Given the description of an element on the screen output the (x, y) to click on. 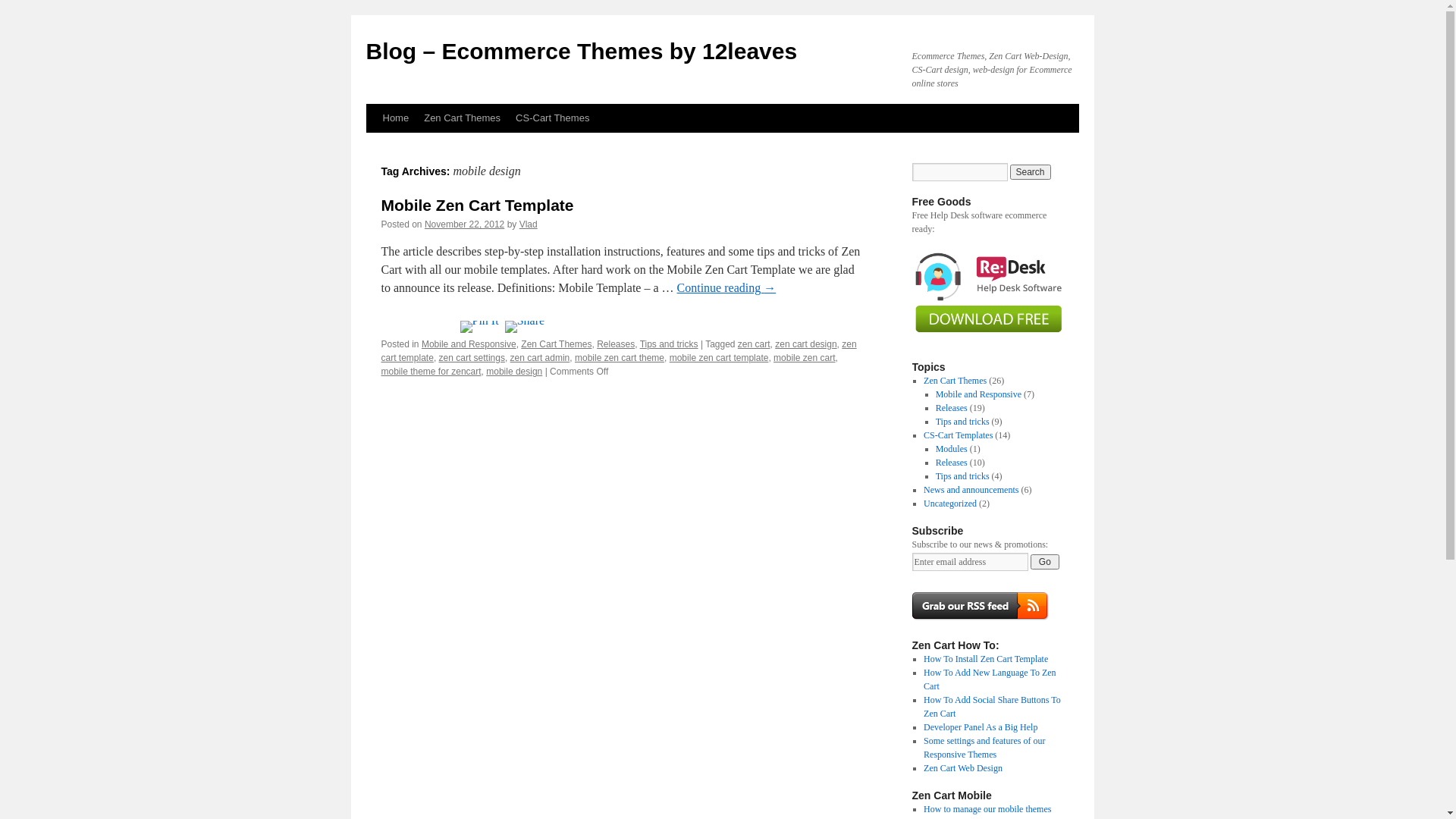
Home Element type: text (395, 117)
News and announcements Element type: text (970, 489)
Mobile and Responsive Element type: text (978, 394)
Releases Element type: text (951, 462)
Tips and tricks Element type: text (962, 421)
Mobile and Responsive Element type: text (468, 343)
zen cart settings Element type: text (472, 357)
mobile theme for zencart Element type: text (430, 371)
Search Element type: text (1030, 171)
How to manage our mobile themes Element type: text (987, 808)
zen cart admin Element type: text (540, 357)
Skip to content Element type: text (372, 146)
zen cart design Element type: text (805, 343)
CS-Cart Templates Element type: text (957, 434)
Vlad Element type: text (528, 224)
Zen Cart Themes Element type: text (954, 380)
mobile zen cart template Element type: text (718, 357)
Releases Element type: text (951, 407)
Tips and tricks Element type: text (669, 343)
How To Add New Language To Zen Cart Element type: text (989, 679)
mobile zen cart theme Element type: text (619, 357)
Modules Element type: text (951, 448)
Zen Cart Themes Element type: text (462, 117)
Pin It Element type: hover (478, 326)
November 22, 2012 Element type: text (464, 224)
Zen Cart Themes Element type: text (555, 343)
mobile zen cart Element type: text (803, 357)
Developer Panel As a Big Help Element type: text (980, 726)
How To Add Social Share Buttons To Zen Cart Element type: text (991, 706)
Download Help Desk Software Element type: hover (987, 339)
zen cart template Element type: text (618, 350)
 Go  Element type: text (1044, 561)
Releases Element type: text (615, 343)
Mobile Zen Cart Template Element type: text (476, 204)
zen cart Element type: text (753, 343)
Uncategorized Element type: text (949, 503)
Tips and tricks Element type: text (962, 475)
mobile design Element type: text (514, 371)
Zen Cart Web Design Element type: text (962, 767)
Some settings and features of our Responsive Themes Element type: text (983, 747)
CS-Cart Themes Element type: text (552, 117)
How To Install Zen Cart Template Element type: text (985, 658)
